Given the description of an element on the screen output the (x, y) to click on. 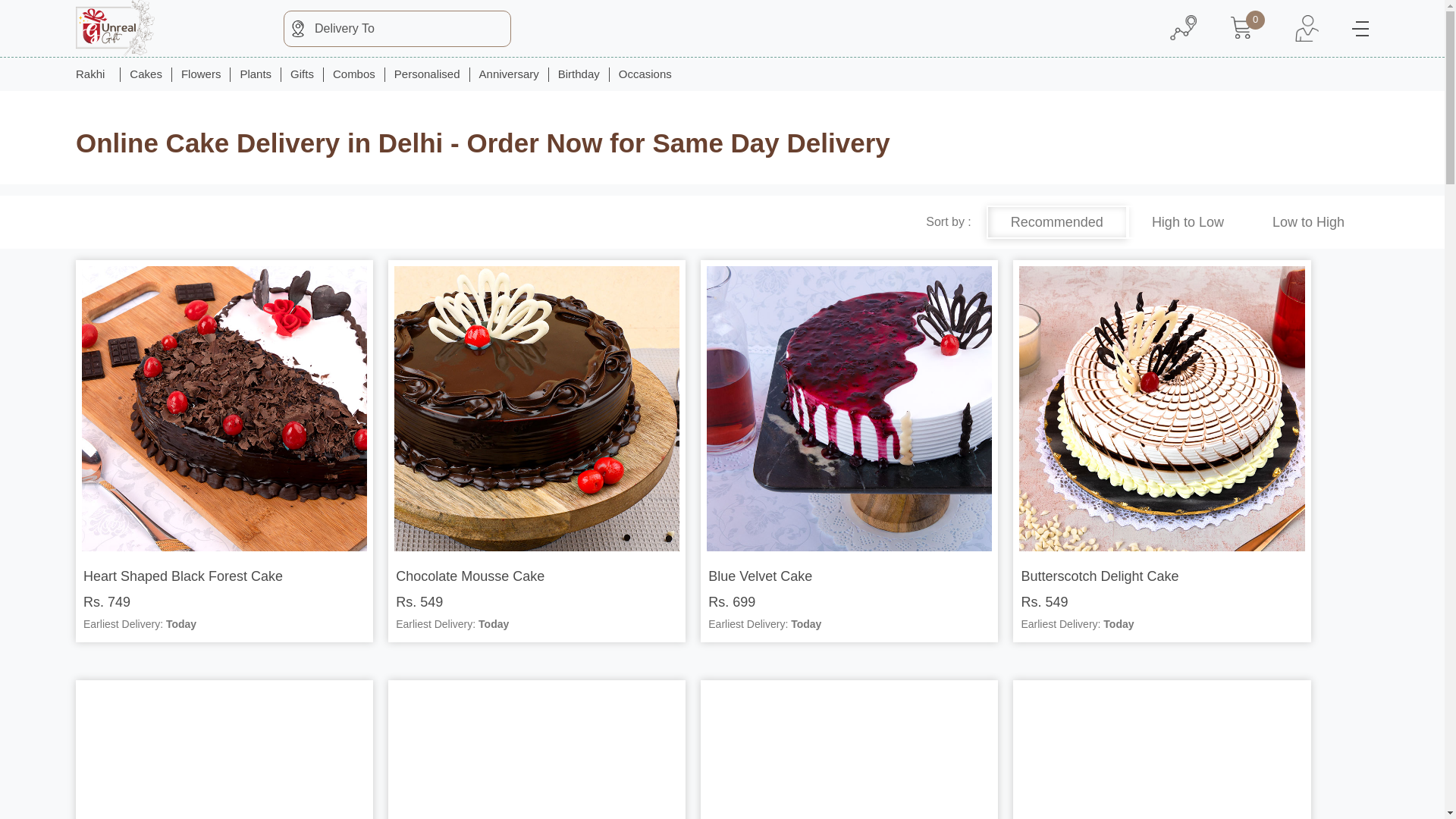
Order Red Velvet Fruit Cake: Online Delivery Online (536, 752)
Delivery To (397, 27)
Rakhi (97, 74)
Order Blue Velvet Cake Delivery in India (848, 408)
0 (1246, 28)
Order Kiwi Delight Cake Online Buy Online (848, 752)
Send Chocolate Mousse Cake Delivery Online (536, 408)
Mango Cake: Send Online in India Send Now (1161, 752)
Send Kitkat Rocher Cake Online (223, 752)
Buy Butterscotch Delight Cake Online (1161, 408)
Cakes (145, 74)
